Given the description of an element on the screen output the (x, y) to click on. 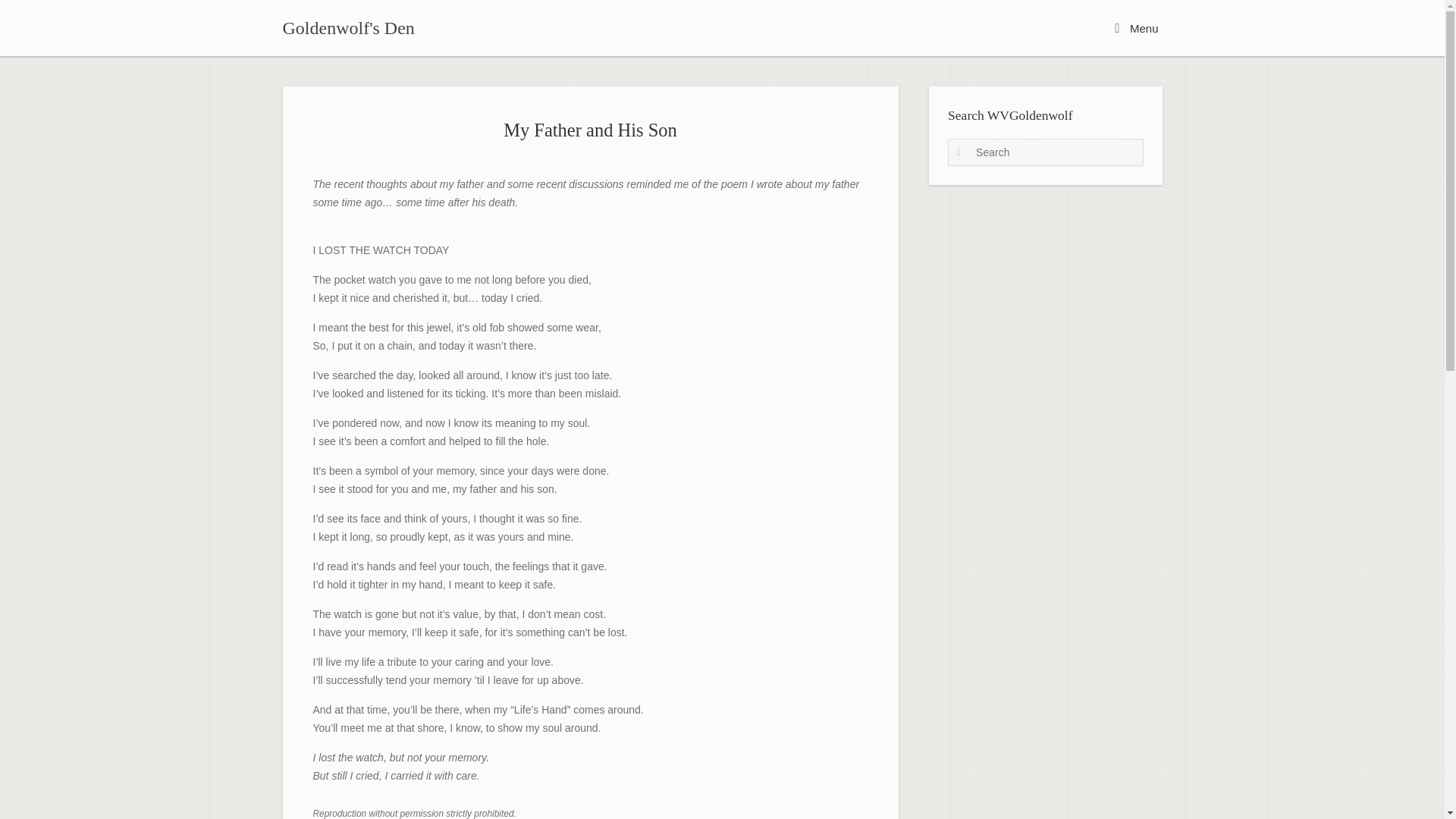
Search (34, 15)
Permalink to My Father and His Son (590, 129)
Menu (1136, 27)
My Father and His Son (590, 129)
Goldenwolf's Den (347, 27)
Goldenwolf's Den (347, 27)
